Given the description of an element on the screen output the (x, y) to click on. 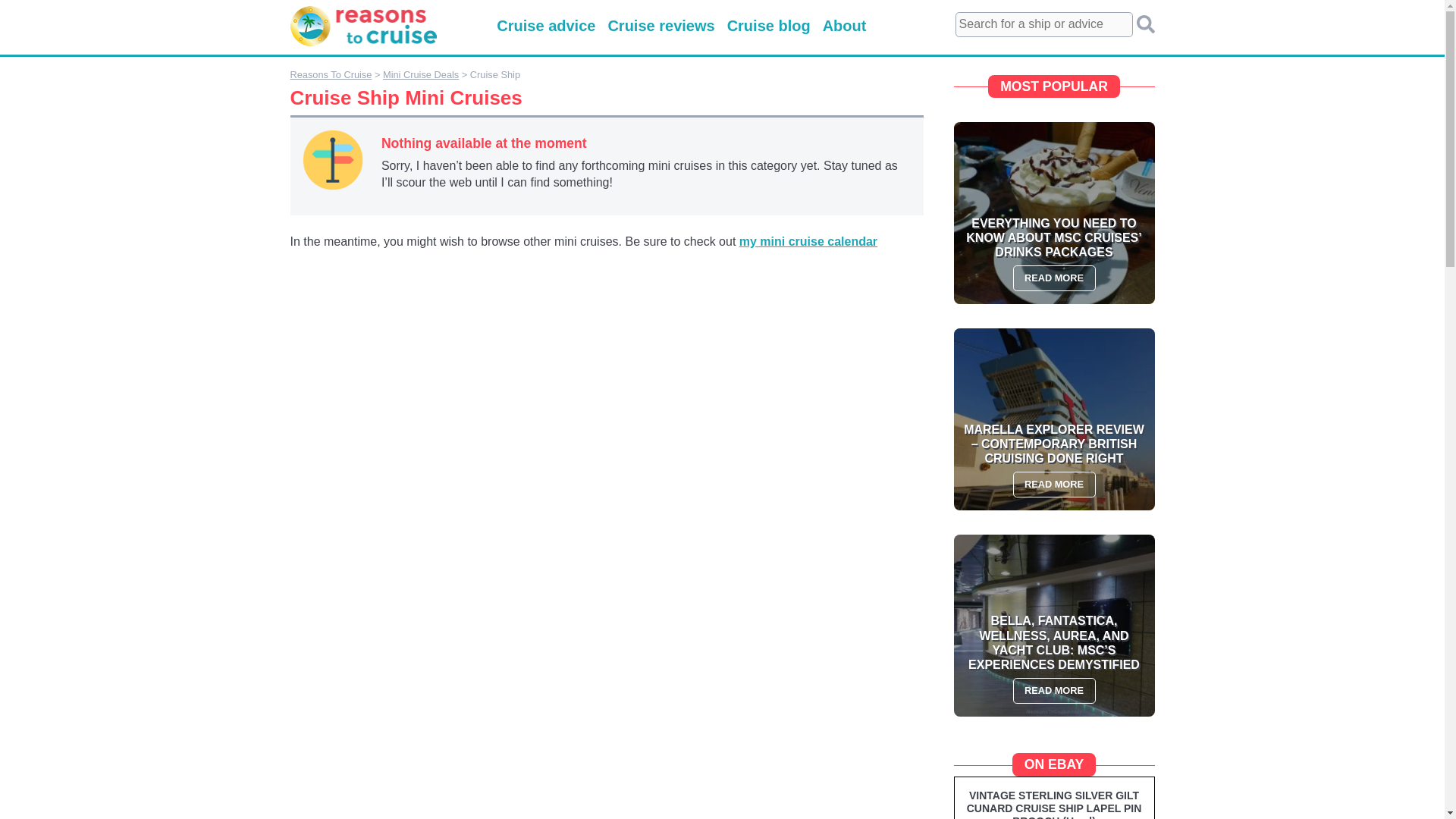
Reasons to Cruise (362, 47)
About (844, 25)
READ MORE (1054, 484)
READ MORE (1054, 690)
Go to Reasons To Cruise. (330, 74)
Cruise advice (545, 25)
Mini Cruise Deals (420, 74)
Go to Mini Cruise Deals. (420, 74)
Cruise reviews (660, 25)
Signpost (331, 159)
